Given the description of an element on the screen output the (x, y) to click on. 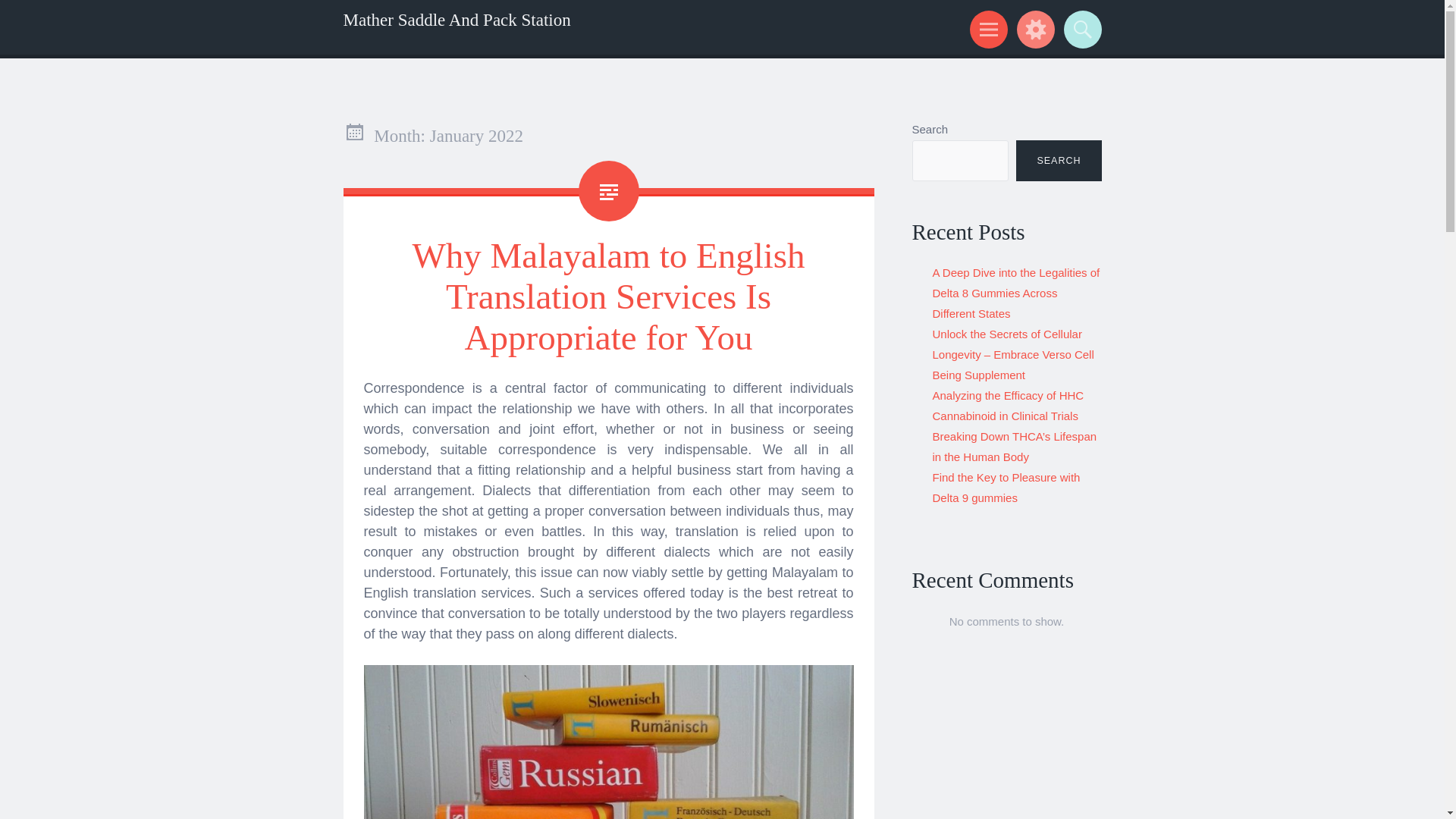
Mather Saddle And Pack Station (456, 19)
Menu (985, 29)
Search (1080, 29)
Widgets (1032, 29)
